Given the description of an element on the screen output the (x, y) to click on. 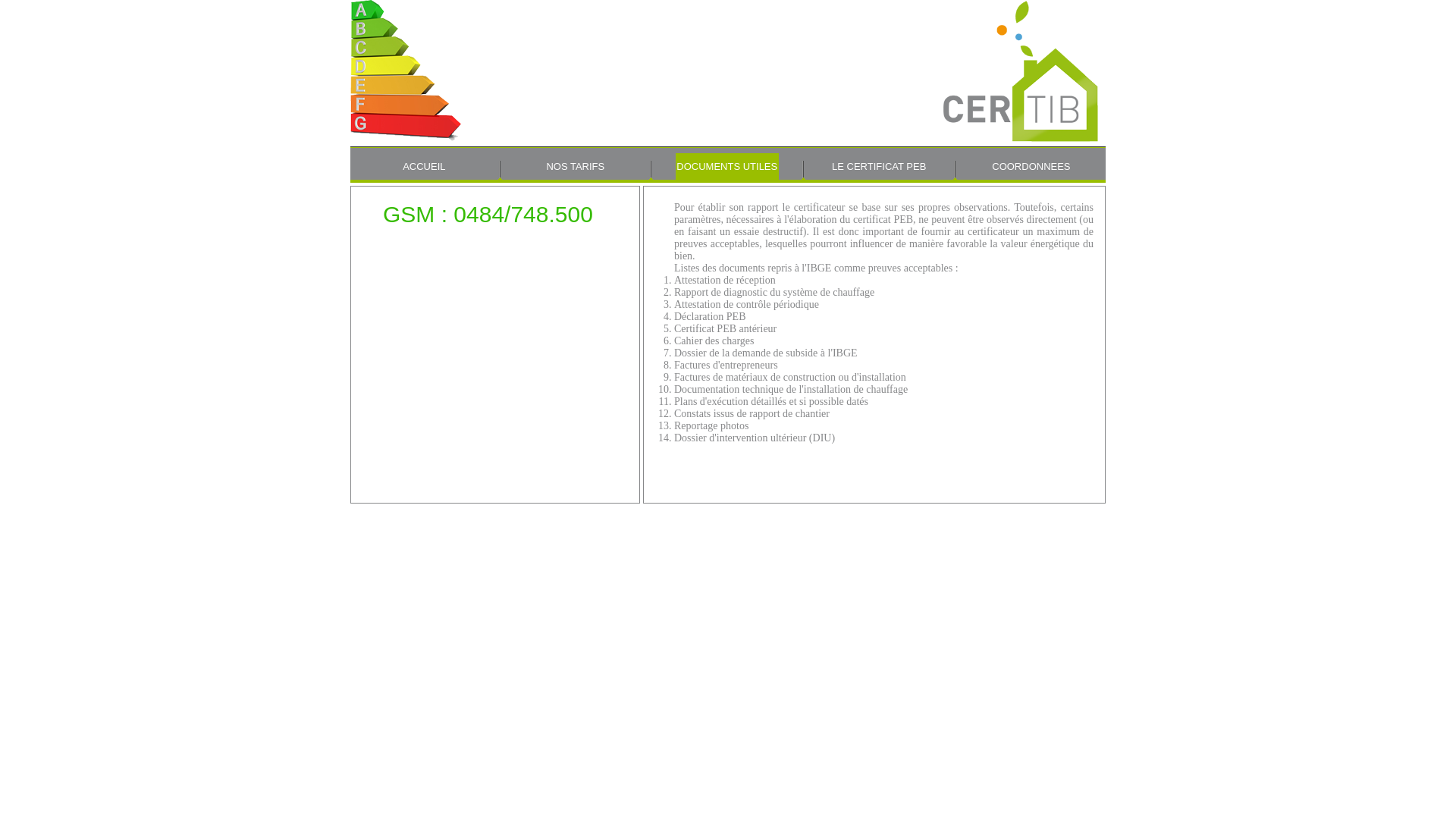
ACCUEIL Element type: text (423, 166)
DOCUMENTS UTILES Element type: text (726, 166)
COORDONNEES Element type: text (1030, 166)
NOS TARIFS Element type: text (575, 166)
LE CERTIFICAT PEB Element type: text (878, 166)
